Given the description of an element on the screen output the (x, y) to click on. 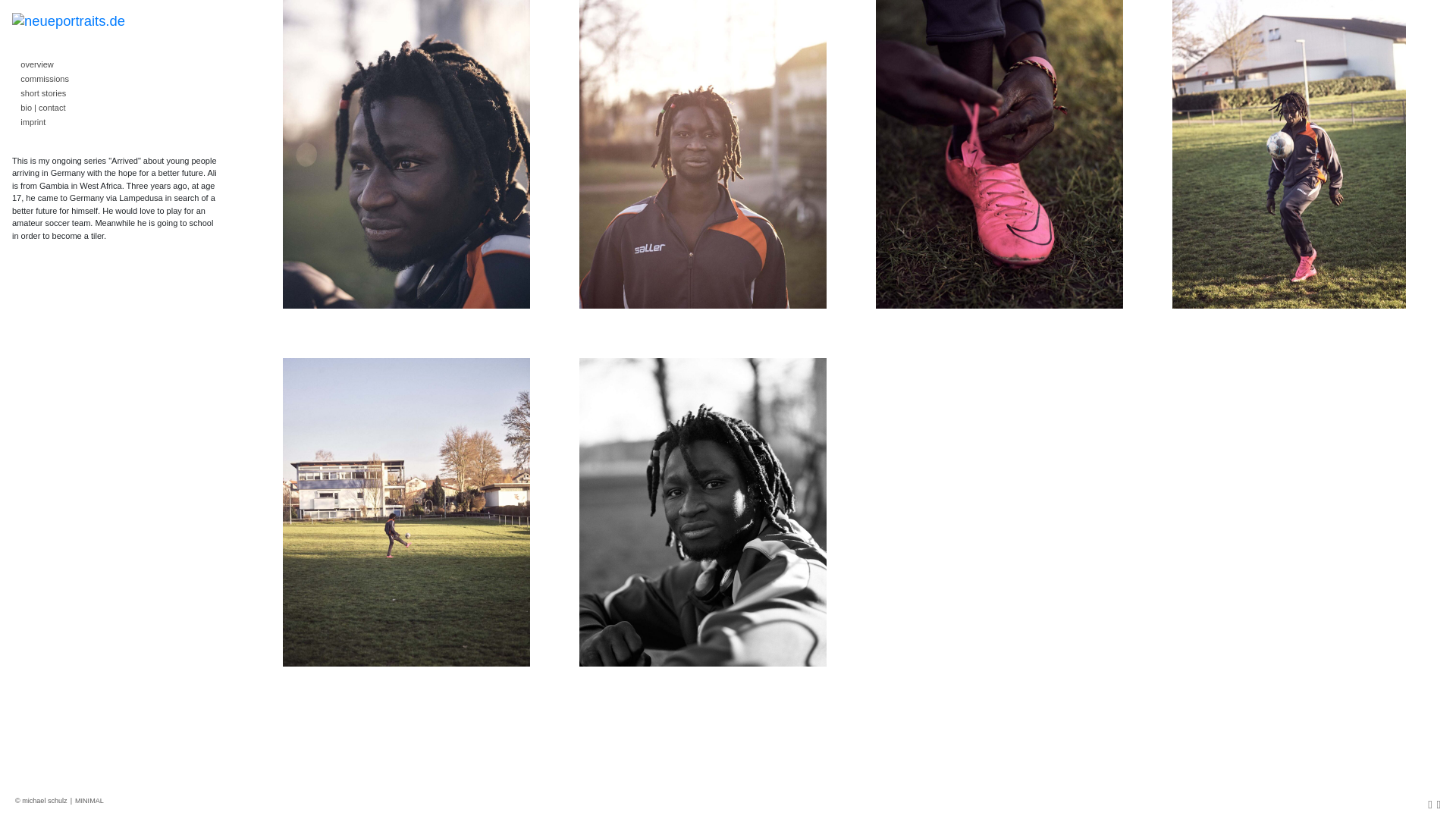
overview (116, 65)
commissions (116, 79)
Bearbeitet (113, 204)
